Given the description of an element on the screen output the (x, y) to click on. 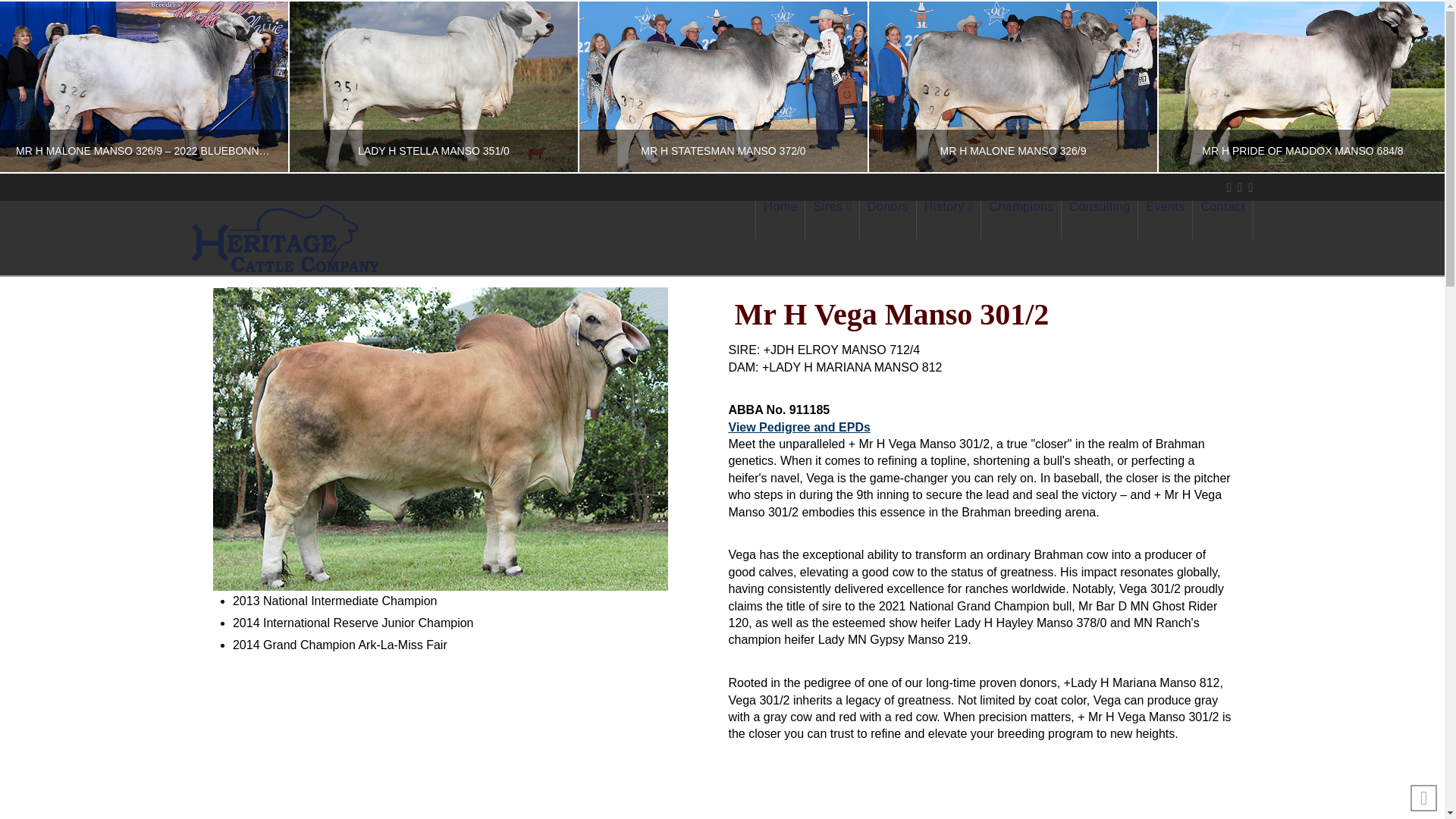
Champions (1021, 219)
Donors (888, 219)
YouTube video player (721, 805)
Sires (832, 219)
Champions (1021, 219)
Home (780, 219)
Consulting (1099, 219)
View Pedigree and EPDs (798, 427)
History (949, 219)
Events (1165, 219)
Back to Top (1423, 797)
Contact (1222, 219)
